Given the description of an element on the screen output the (x, y) to click on. 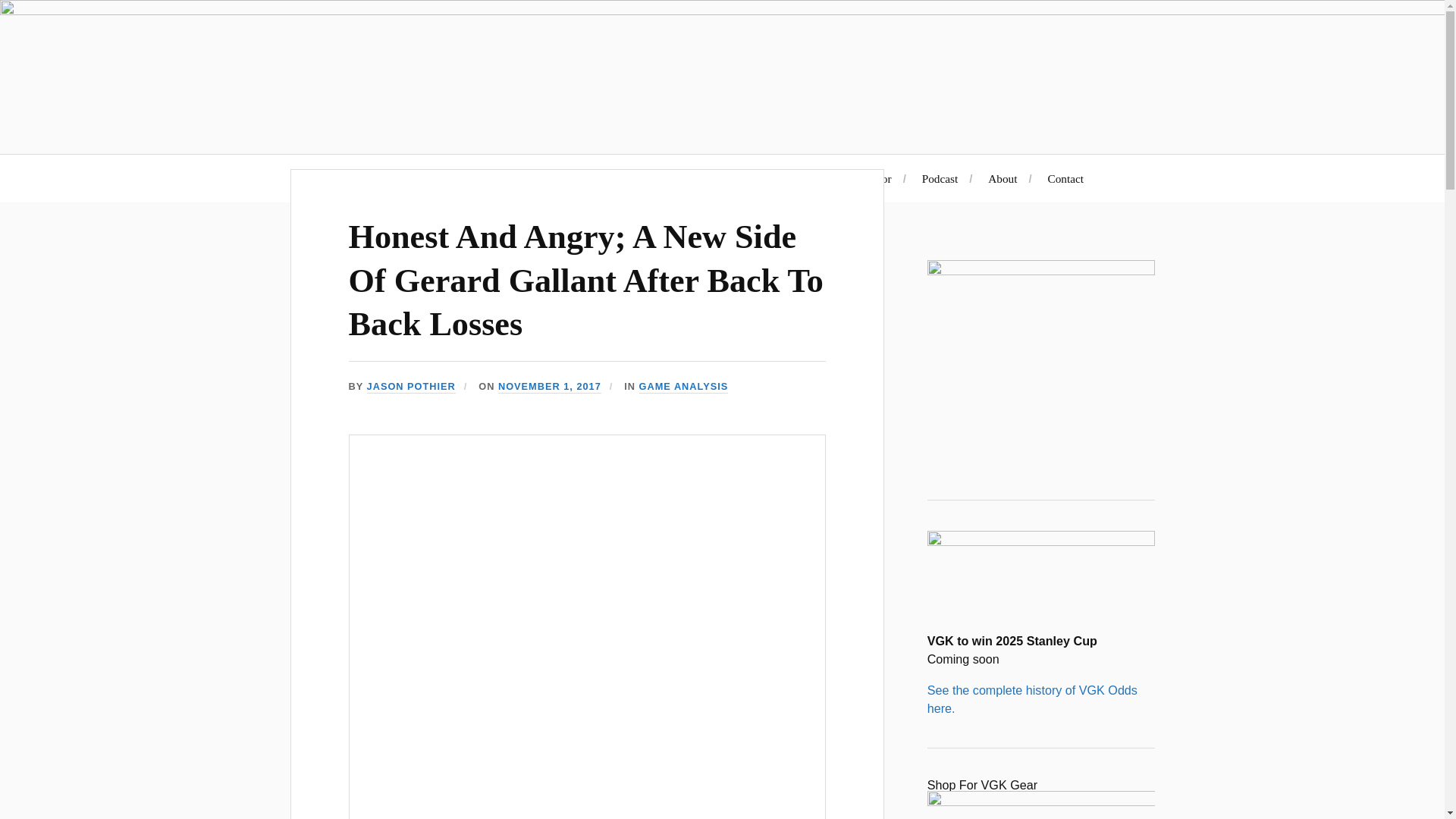
JASON POTHIER (410, 386)
NOVEMBER 1, 2017 (549, 386)
Inscriptagraphs Memorabilia (662, 178)
The Creator (863, 178)
Posts by Jason Pothier (410, 386)
Prospects (783, 178)
GAME ANALYSIS (684, 386)
